Given the description of an element on the screen output the (x, y) to click on. 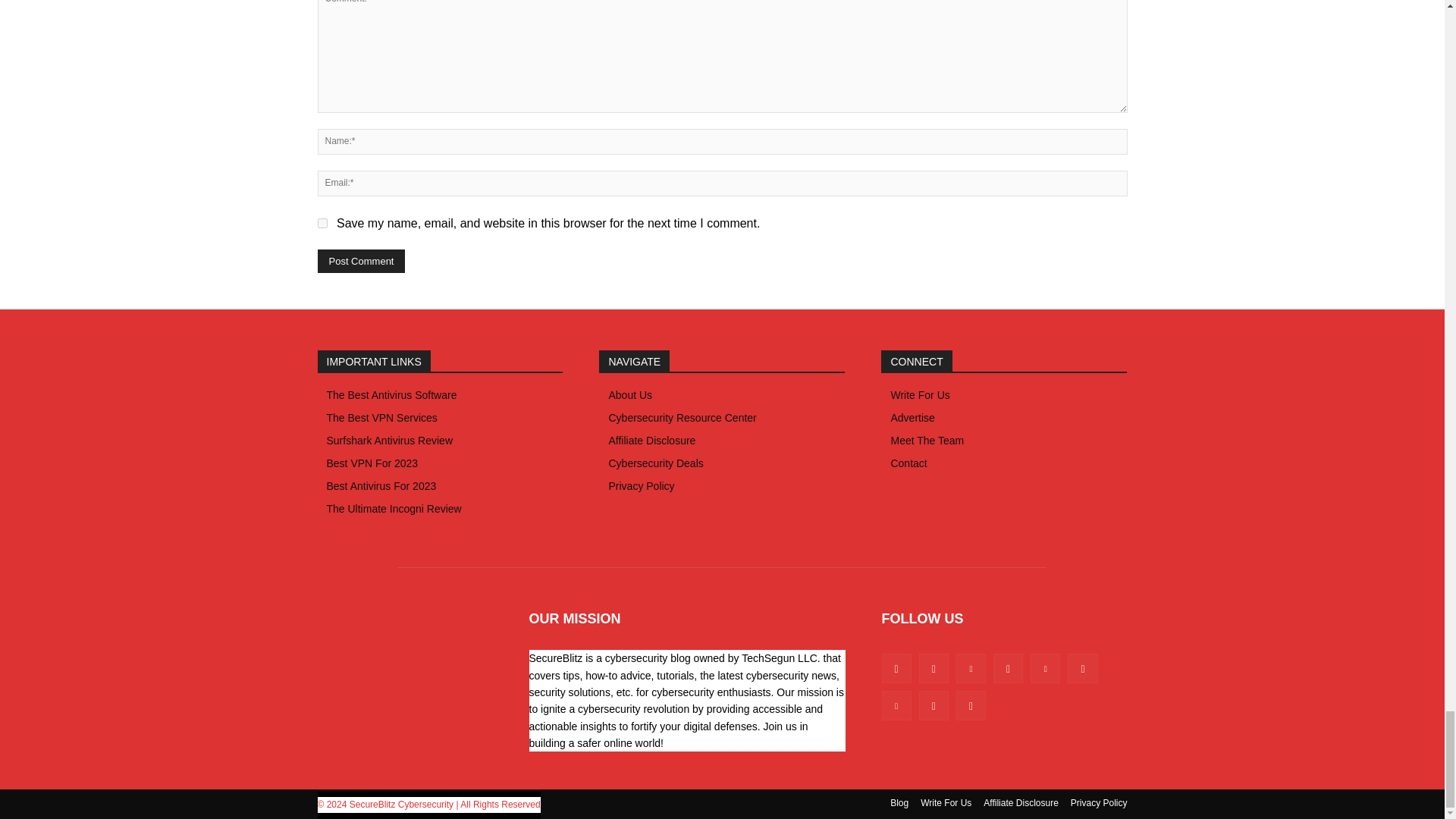
yes (321, 223)
Post Comment (360, 260)
